Given the description of an element on the screen output the (x, y) to click on. 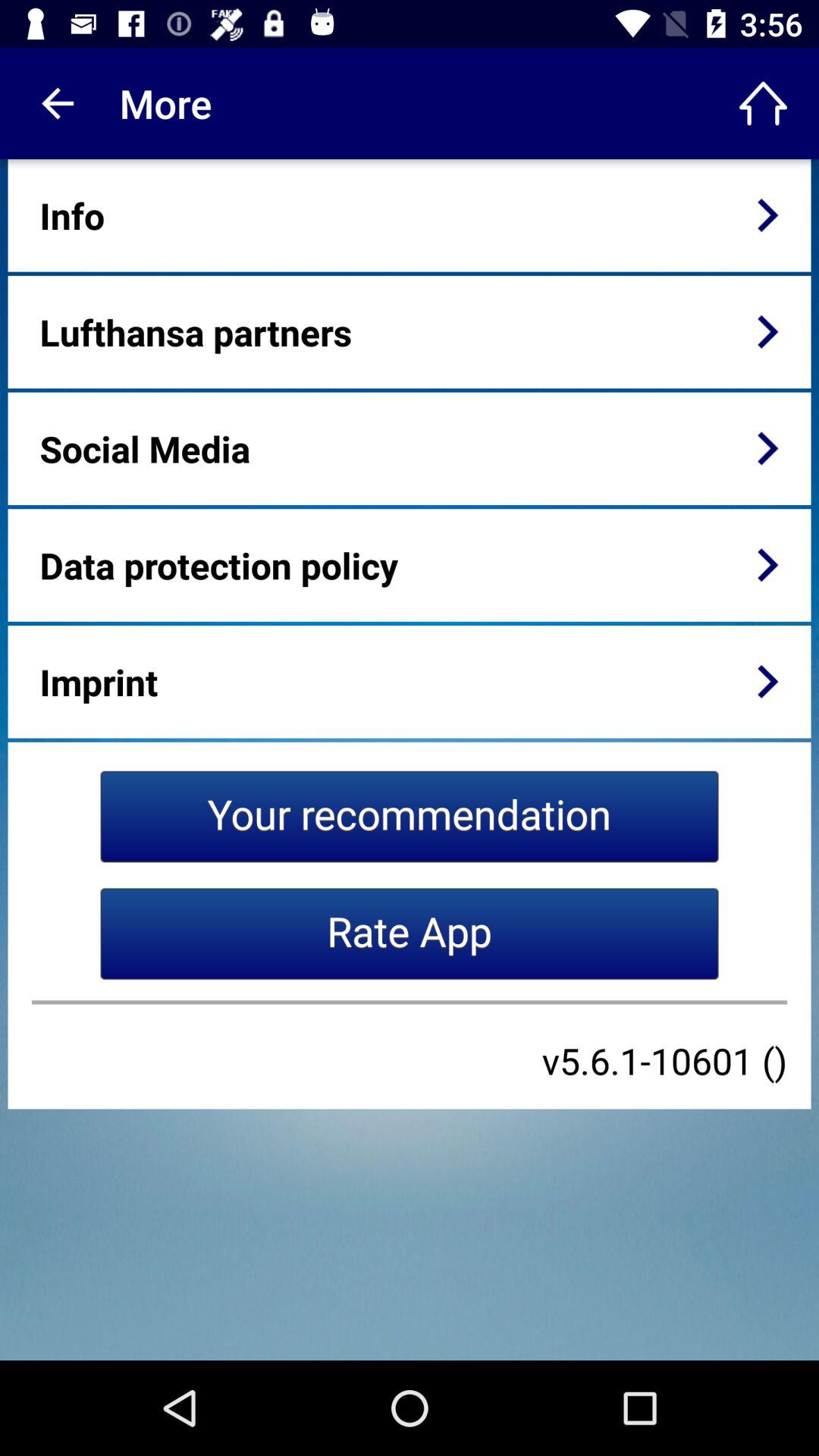
turn on item next to the more item (55, 103)
